Given the description of an element on the screen output the (x, y) to click on. 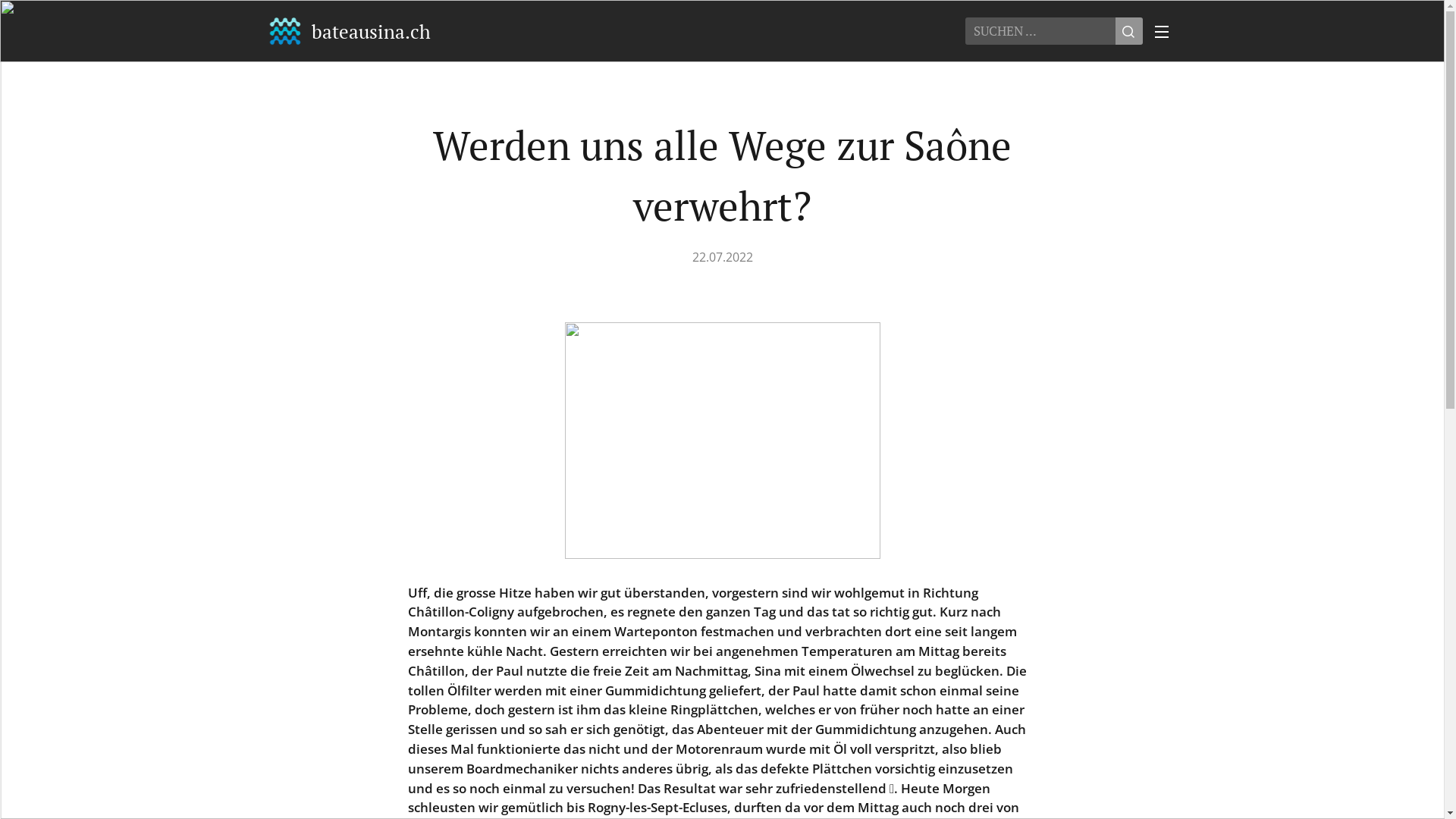
bateausina.ch Element type: text (349, 30)
